Given the description of an element on the screen output the (x, y) to click on. 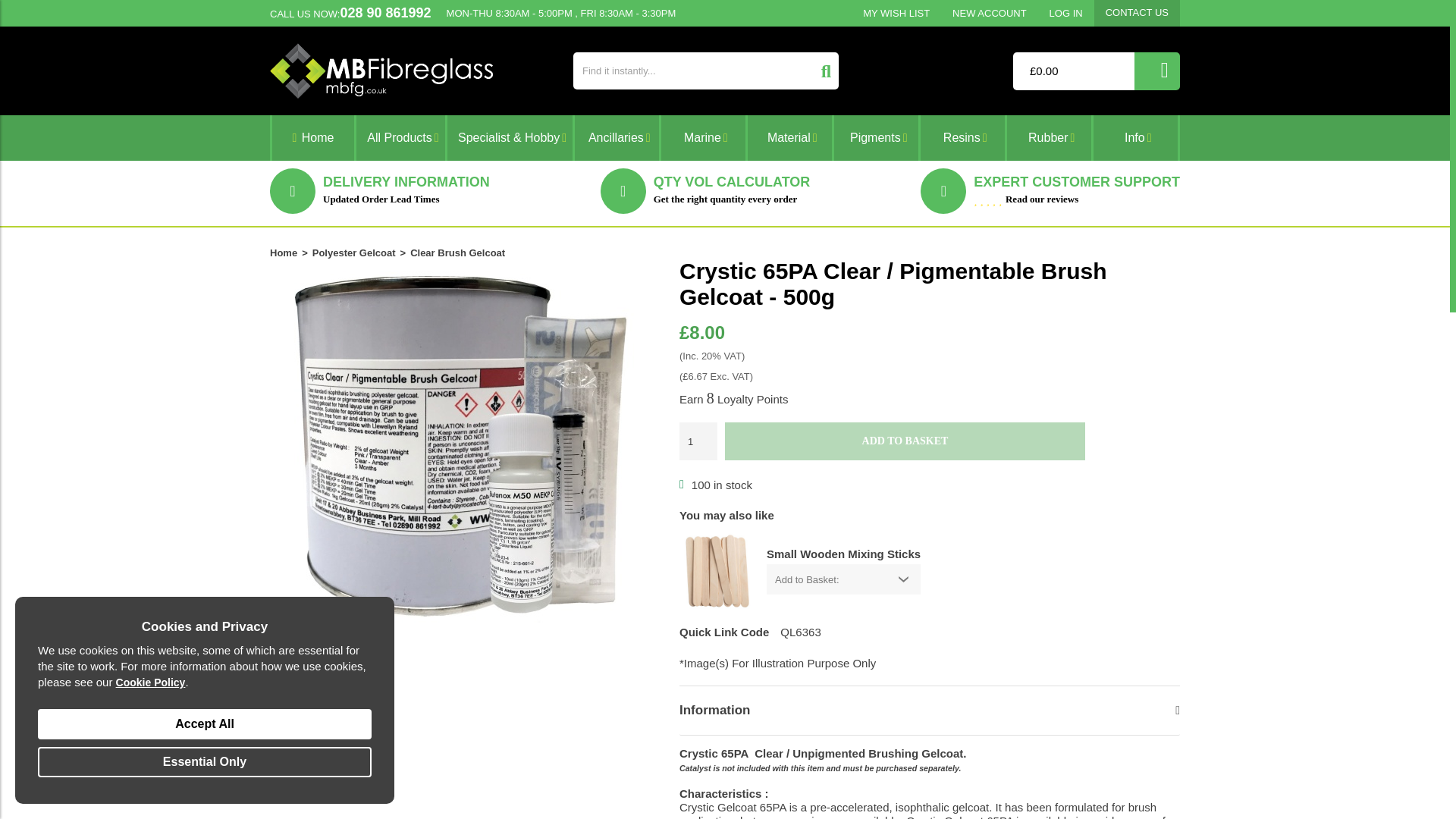
CONTACT US (1136, 12)
Small Wooden Mixing Sticks (717, 571)
All Products (400, 137)
LOG IN (1066, 13)
NEW ACCOUNT (989, 13)
MY WISH LIST (895, 13)
1 (698, 441)
Home (312, 137)
